Given the description of an element on the screen output the (x, y) to click on. 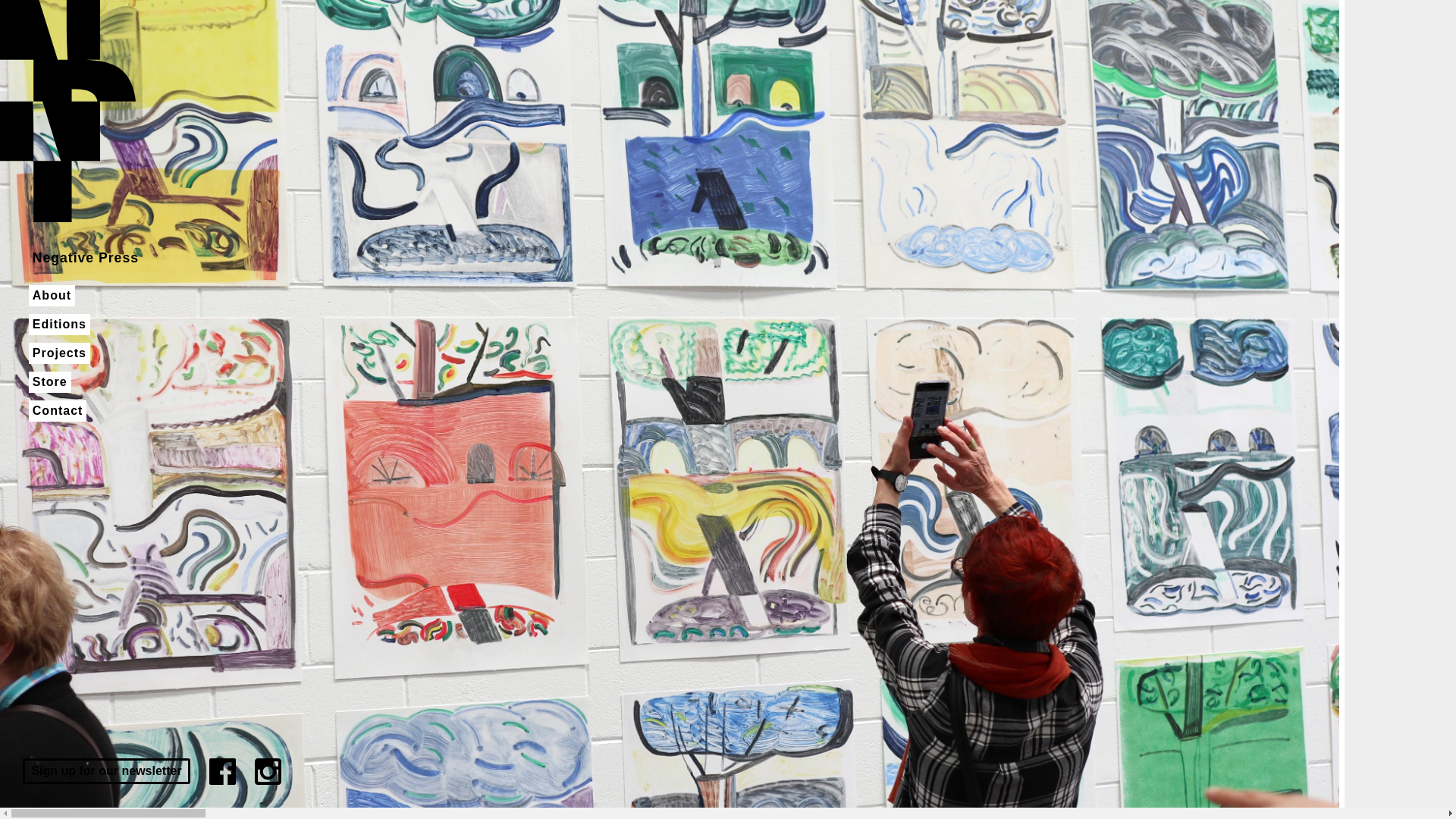
Contact Element type: text (57, 410)
Projects Element type: text (59, 353)
Instagram Element type: text (267, 771)
About Element type: text (51, 295)
Subscribe Element type: text (47, 12)
Facebook Element type: text (222, 771)
Store Element type: text (49, 381)
Negative Press Element type: text (85, 257)
Negative Press Element type: text (68, 111)
Editions Element type: text (59, 324)
